Given the description of an element on the screen output the (x, y) to click on. 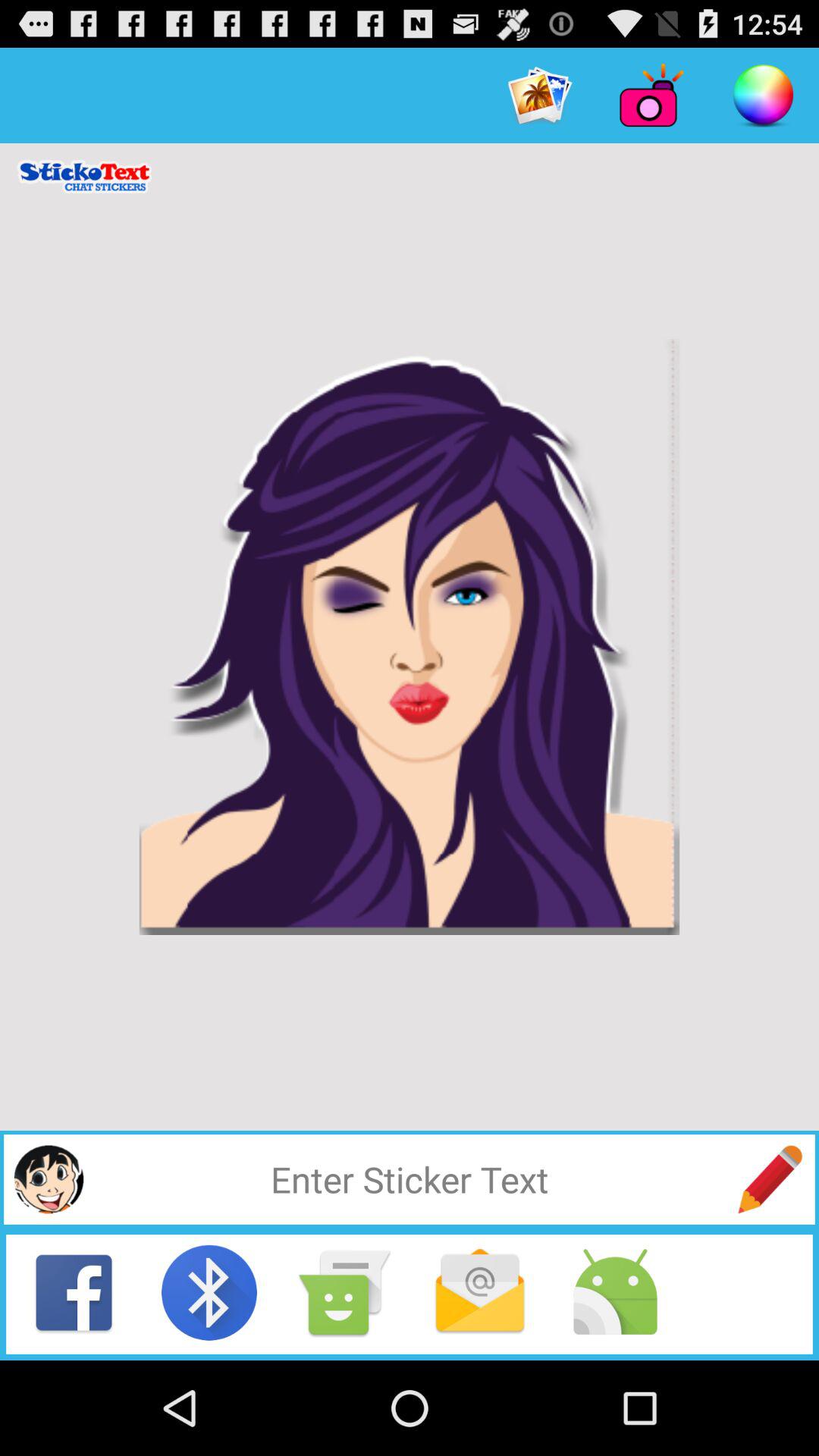
save a copy (344, 1292)
